Given the description of an element on the screen output the (x, y) to click on. 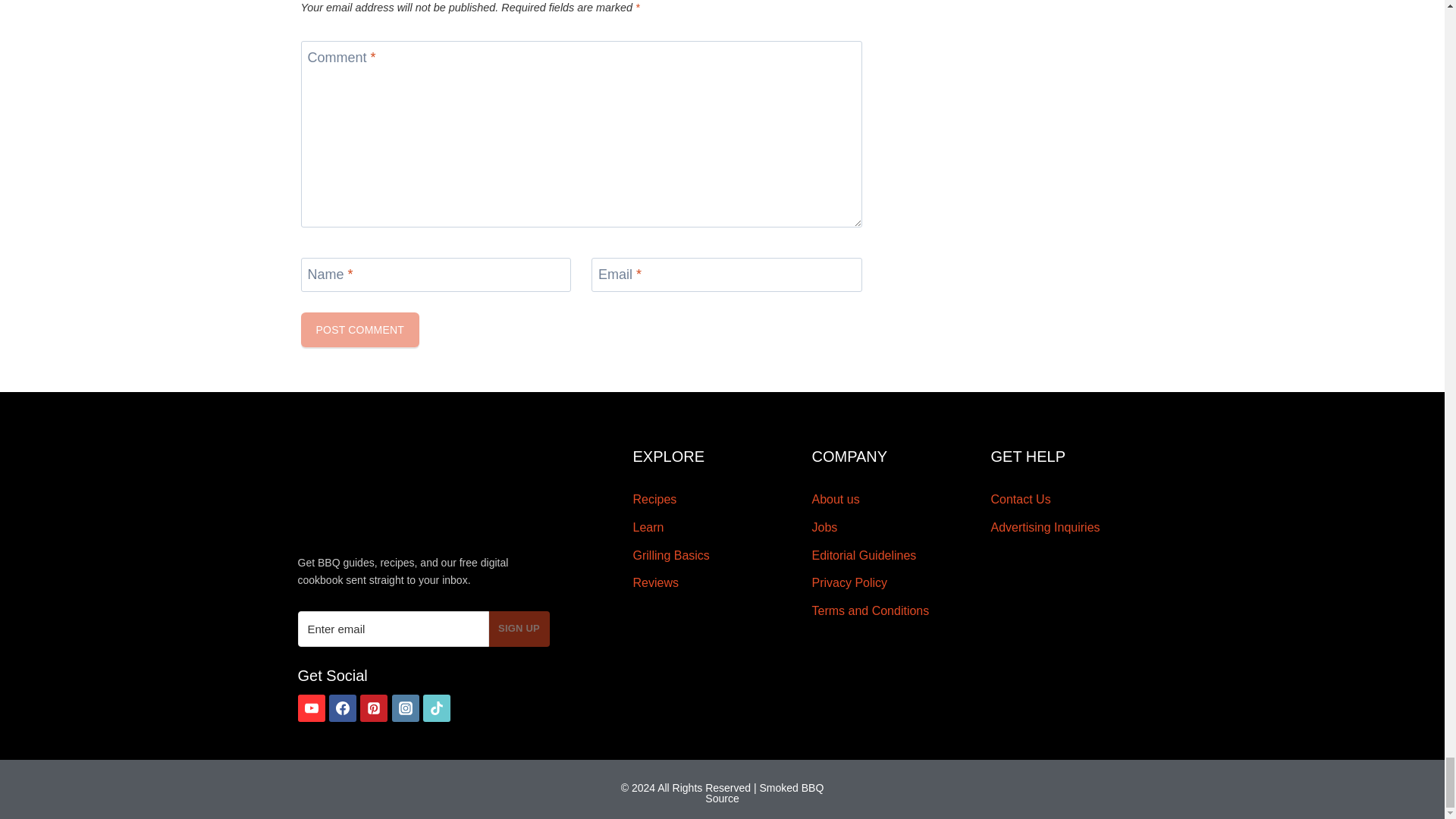
Post Comment (359, 329)
